Given the description of an element on the screen output the (x, y) to click on. 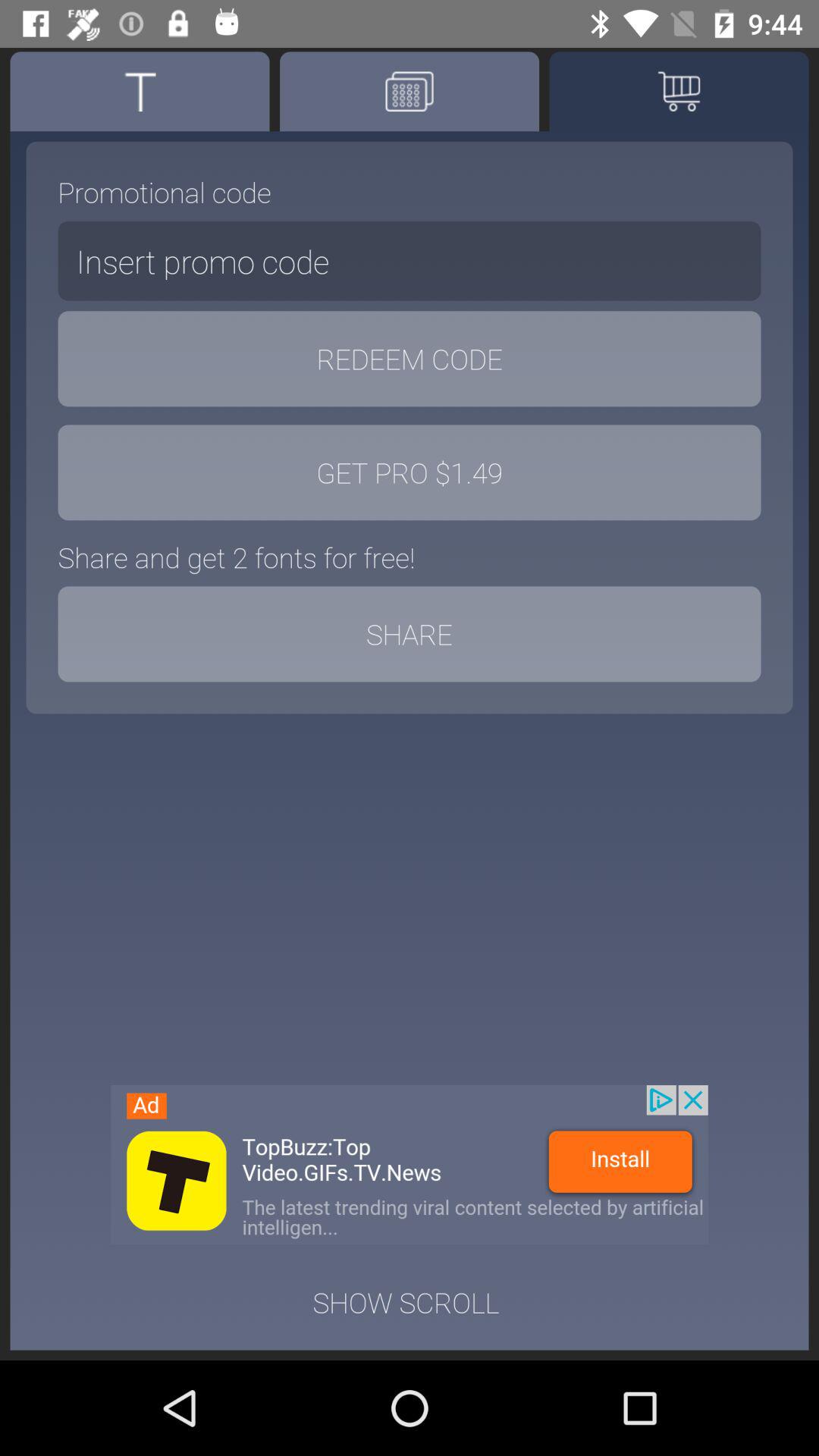
advertisement (409, 1164)
